Given the description of an element on the screen output the (x, y) to click on. 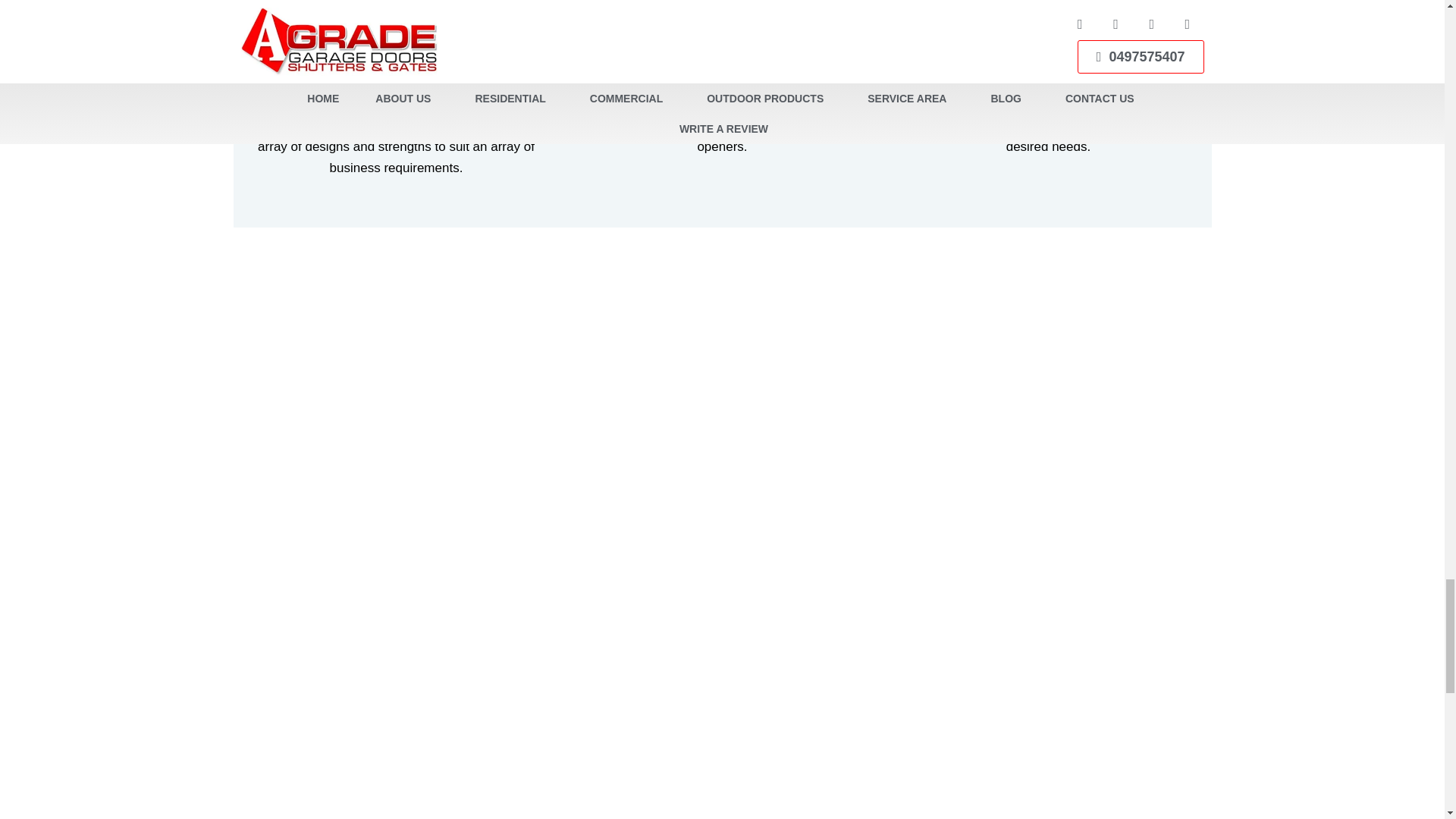
black industrial roller door (477, 711)
garage door (966, 711)
